Given the description of an element on the screen output the (x, y) to click on. 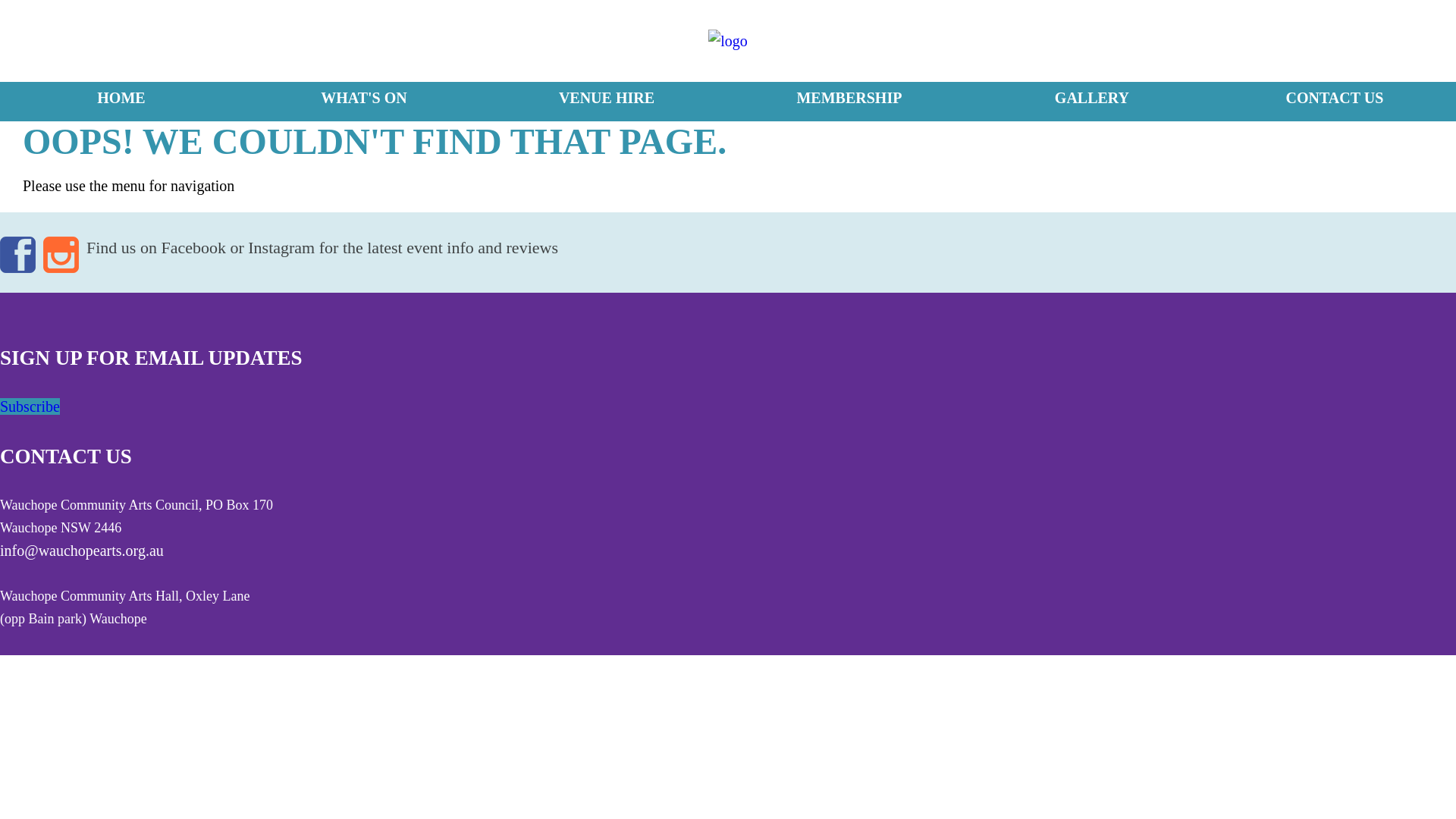
HOME Element type: text (121, 101)
Subscribe Element type: text (29, 406)
MEMBERSHIP Element type: text (849, 101)
CONTACT US Element type: text (65, 456)
info@wauchopearts.org.au Element type: text (81, 550)
WHAT'S ON Element type: text (363, 101)
GALLERY Element type: text (1091, 101)
VENUE HIRE Element type: text (606, 101)
